Given the description of an element on the screen output the (x, y) to click on. 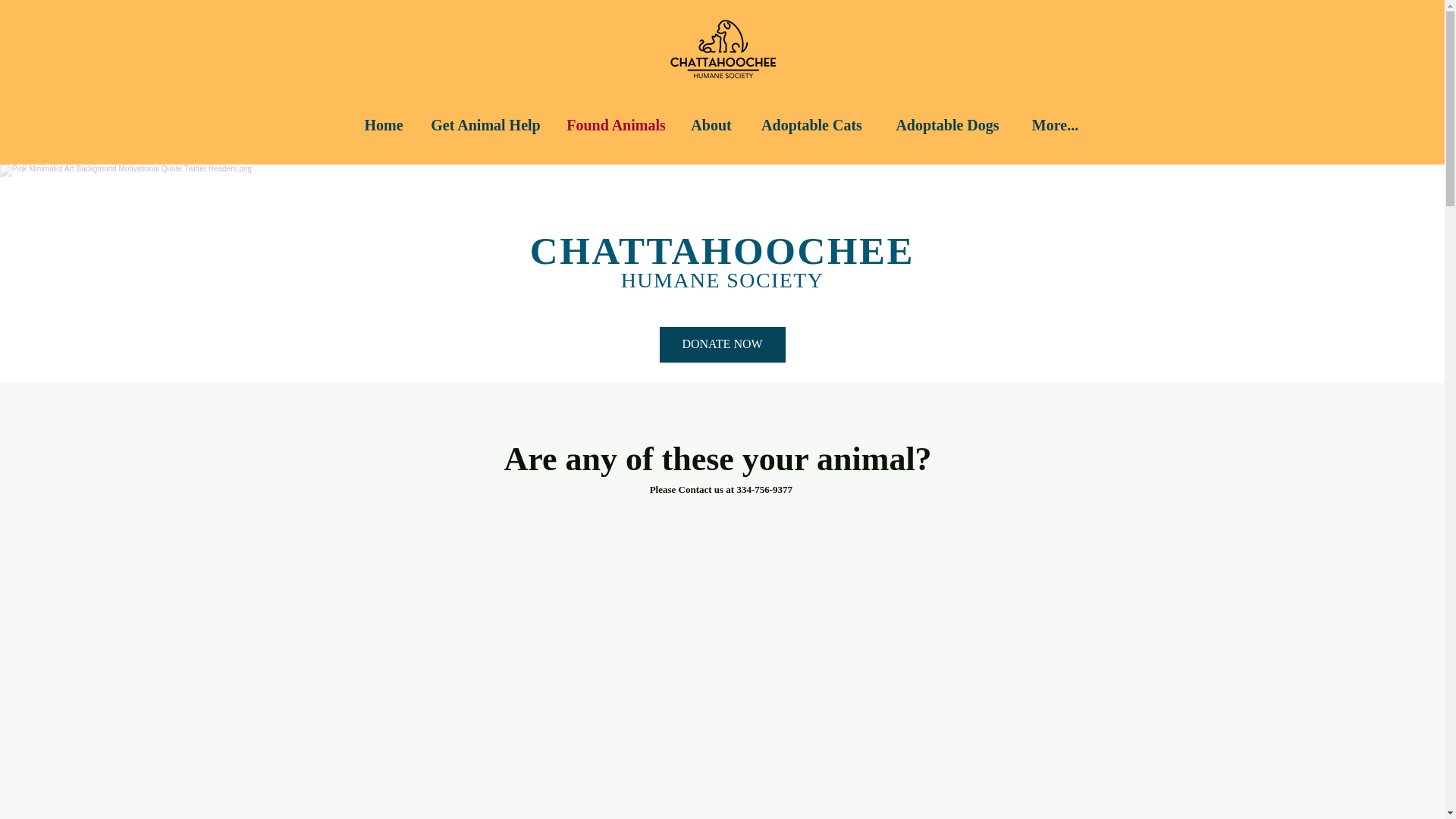
Get Animal Help (485, 125)
About (711, 125)
DONATE NOW (722, 344)
Adoptable Dogs (946, 125)
Home (383, 125)
Found Animals (616, 125)
Adoptable Cats (810, 125)
